Given the description of an element on the screen output the (x, y) to click on. 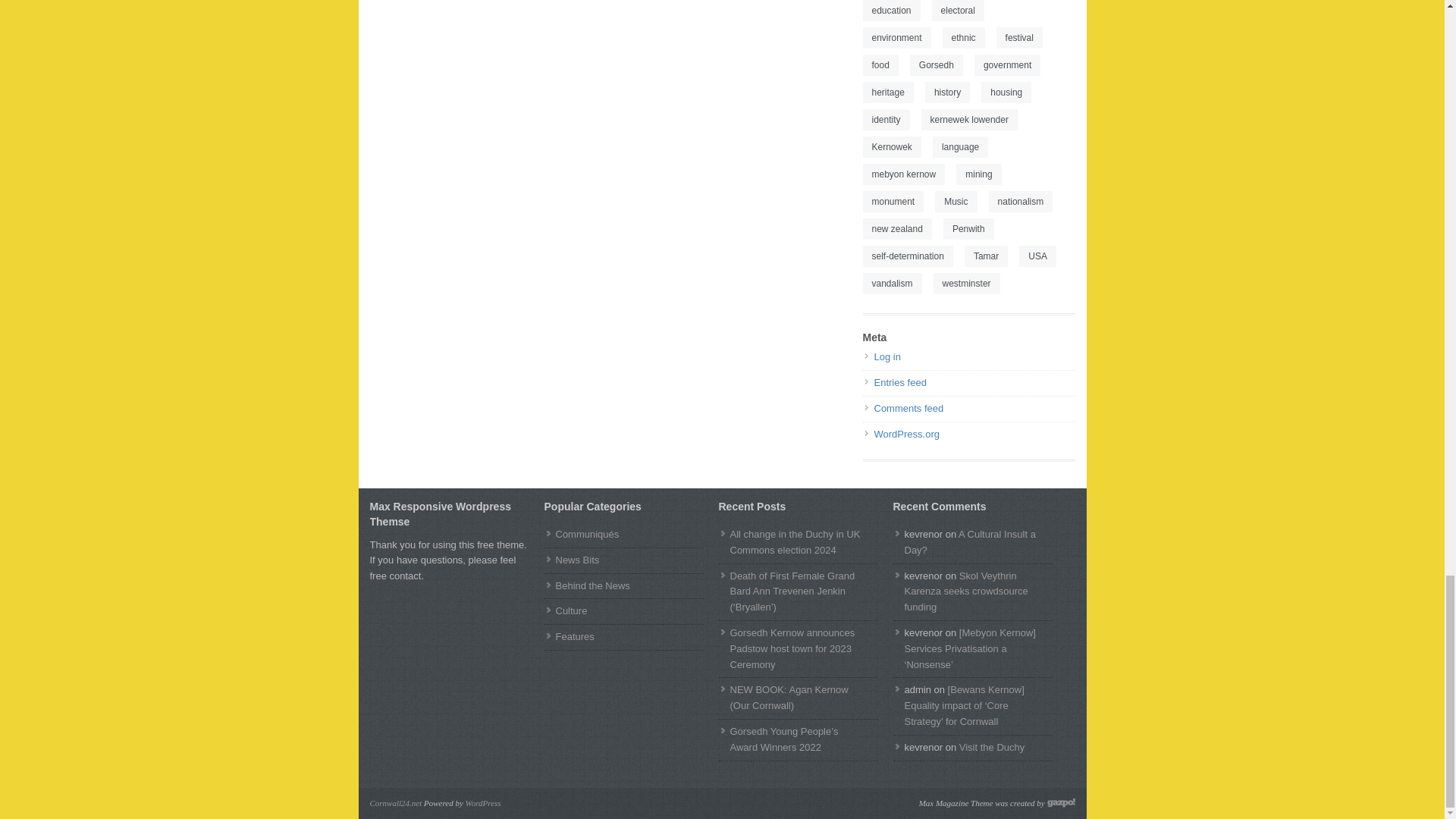
Cornwall24.net (395, 802)
